Given the description of an element on the screen output the (x, y) to click on. 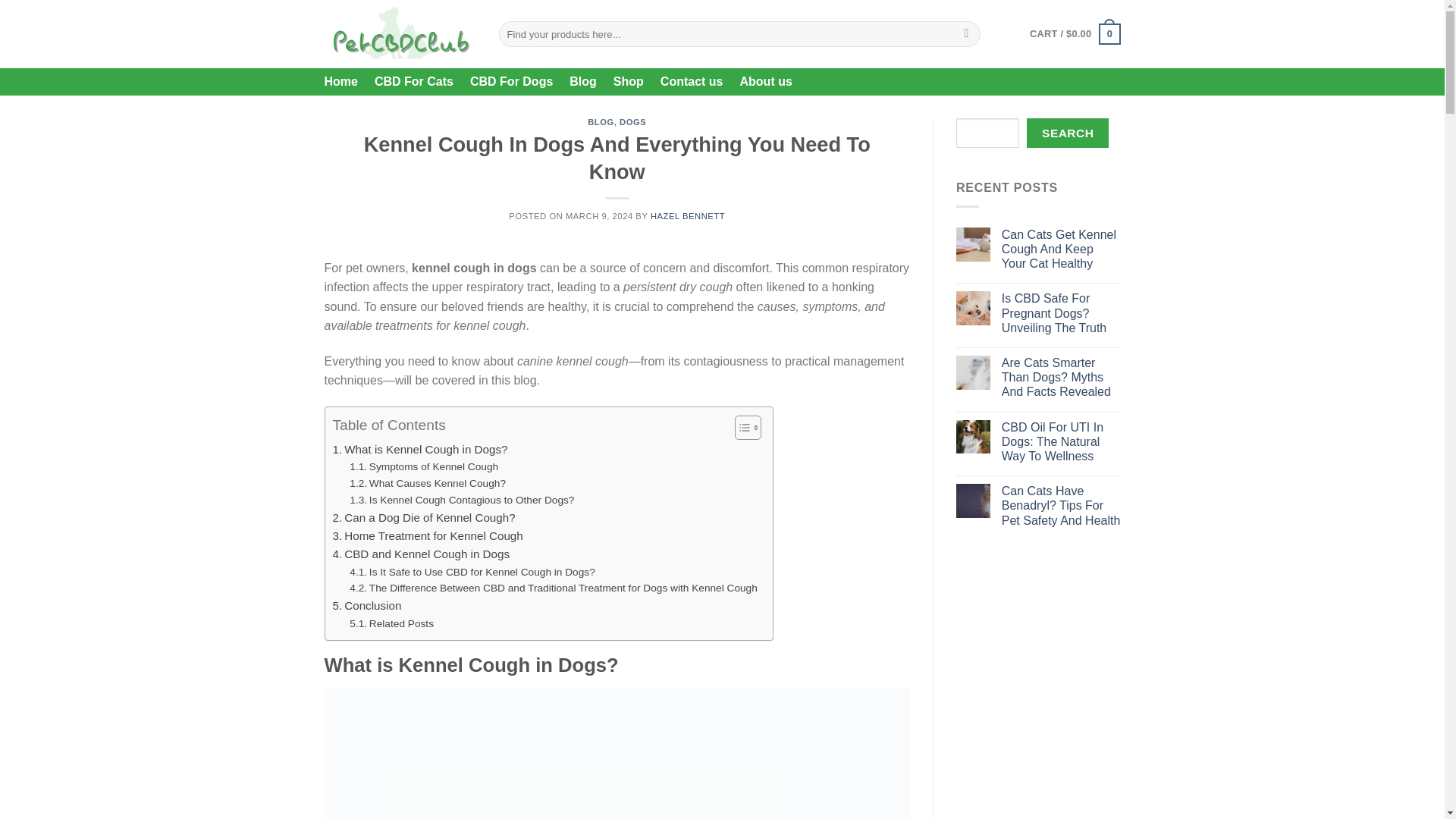
HAZEL BENNETT (687, 215)
Home Treatment for Kennel Cough (426, 536)
CBD and Kennel Cough in Dogs (420, 554)
CBD and Kennel Cough in Dogs (420, 554)
Shop (627, 81)
What Causes Kennel Cough? (427, 483)
BLOG (601, 121)
Can a Dog Die of Kennel Cough? (423, 517)
Symptoms of Kennel Cough (423, 466)
DOGS (633, 121)
